Given the description of an element on the screen output the (x, y) to click on. 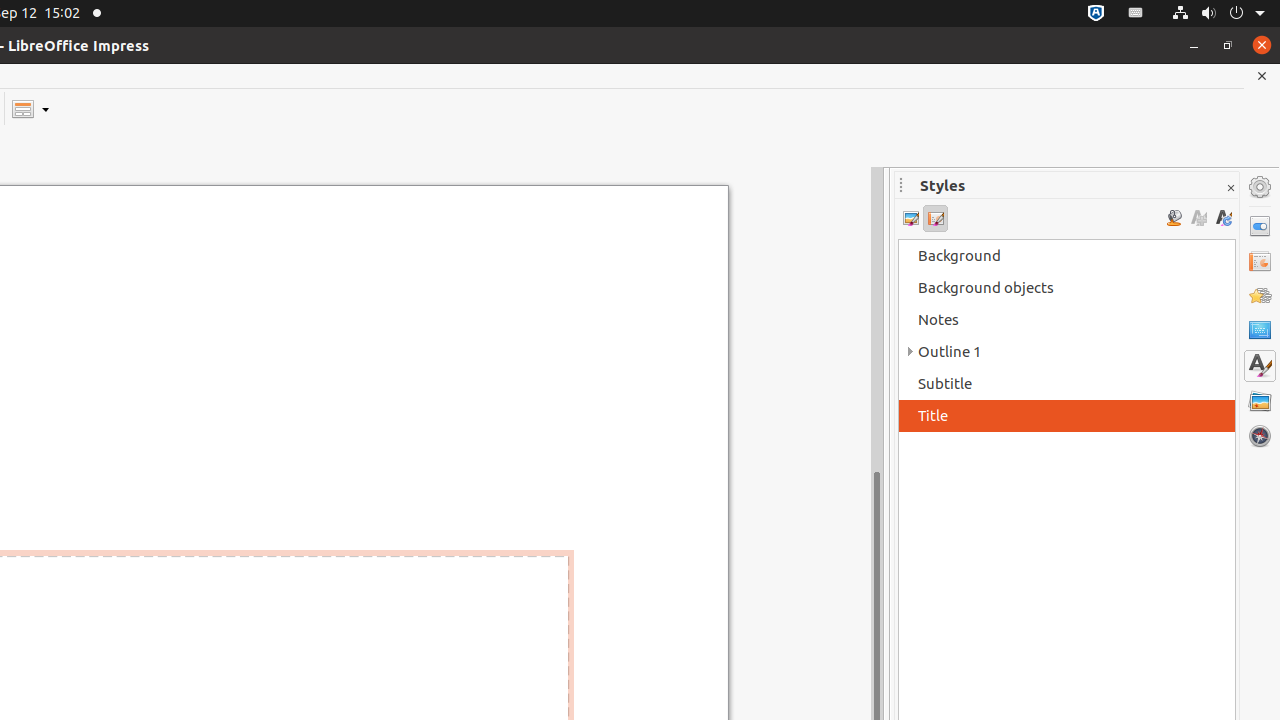
Update Style Element type: push-button (1223, 218)
Slide Layout Element type: push-button (30, 108)
Slide Transition Element type: radio-button (1260, 261)
Fill Format Mode Element type: push-button (1173, 218)
Drawing Styles Element type: push-button (910, 218)
